Given the description of an element on the screen output the (x, y) to click on. 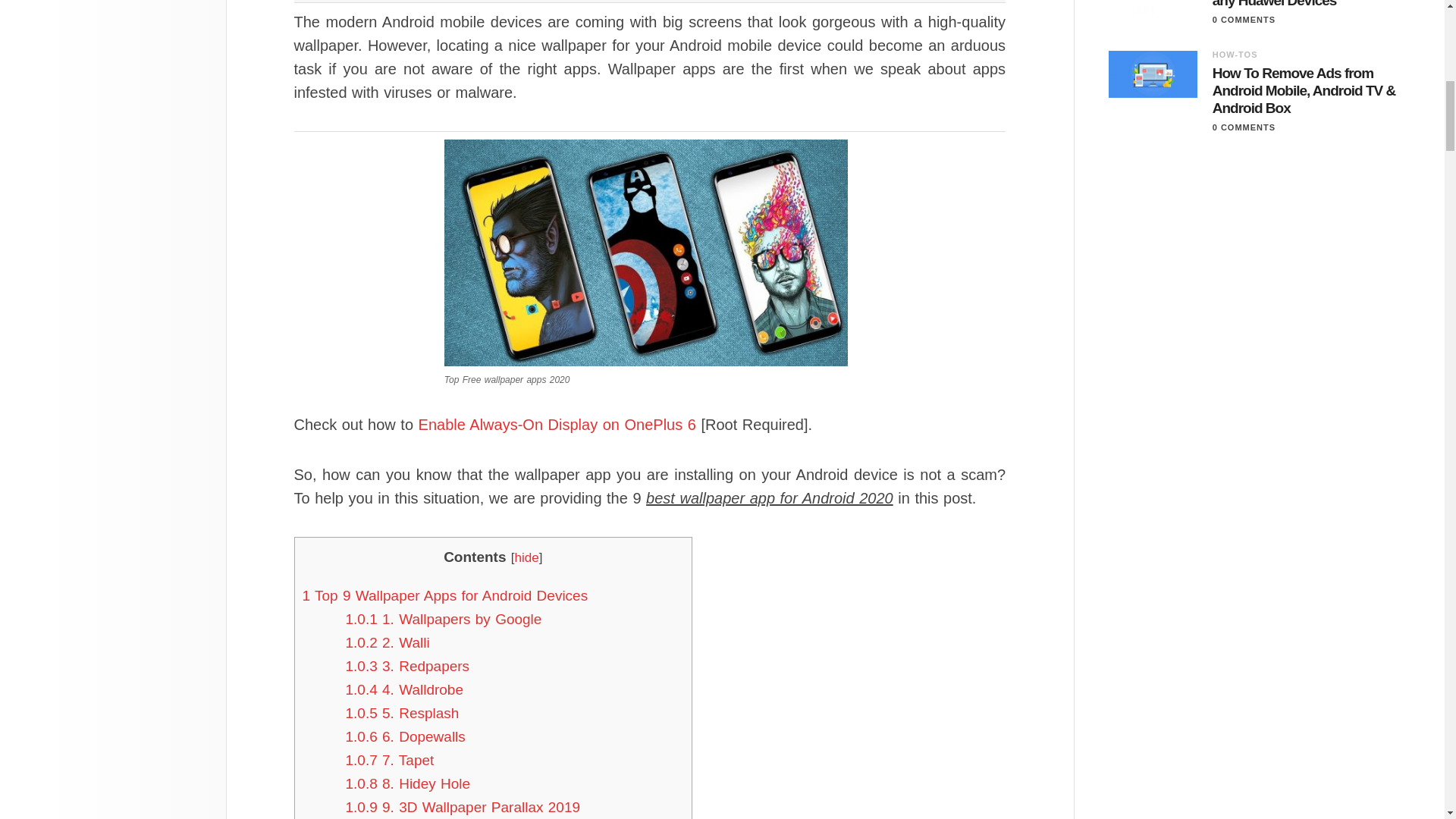
1.0.8 8. Hidey Hole (408, 783)
1.0.9 9. 3D Wallpaper Parallax 2019 (463, 806)
hide (525, 557)
1.0.7 7. Tapet (389, 760)
1.0.3 3. Redpapers (408, 666)
1.0.1 1. Wallpapers by Google (443, 618)
1.0.6 6. Dopewalls (405, 736)
1.0.4 4. Walldrobe (405, 689)
1.0.2 2. Walli (387, 642)
1.0.5 5. Resplash (403, 713)
Enable Always-On Display on OnePlus 6 (557, 424)
1 Top 9 Wallpaper Apps for Android Devices (444, 595)
